Given the description of an element on the screen output the (x, y) to click on. 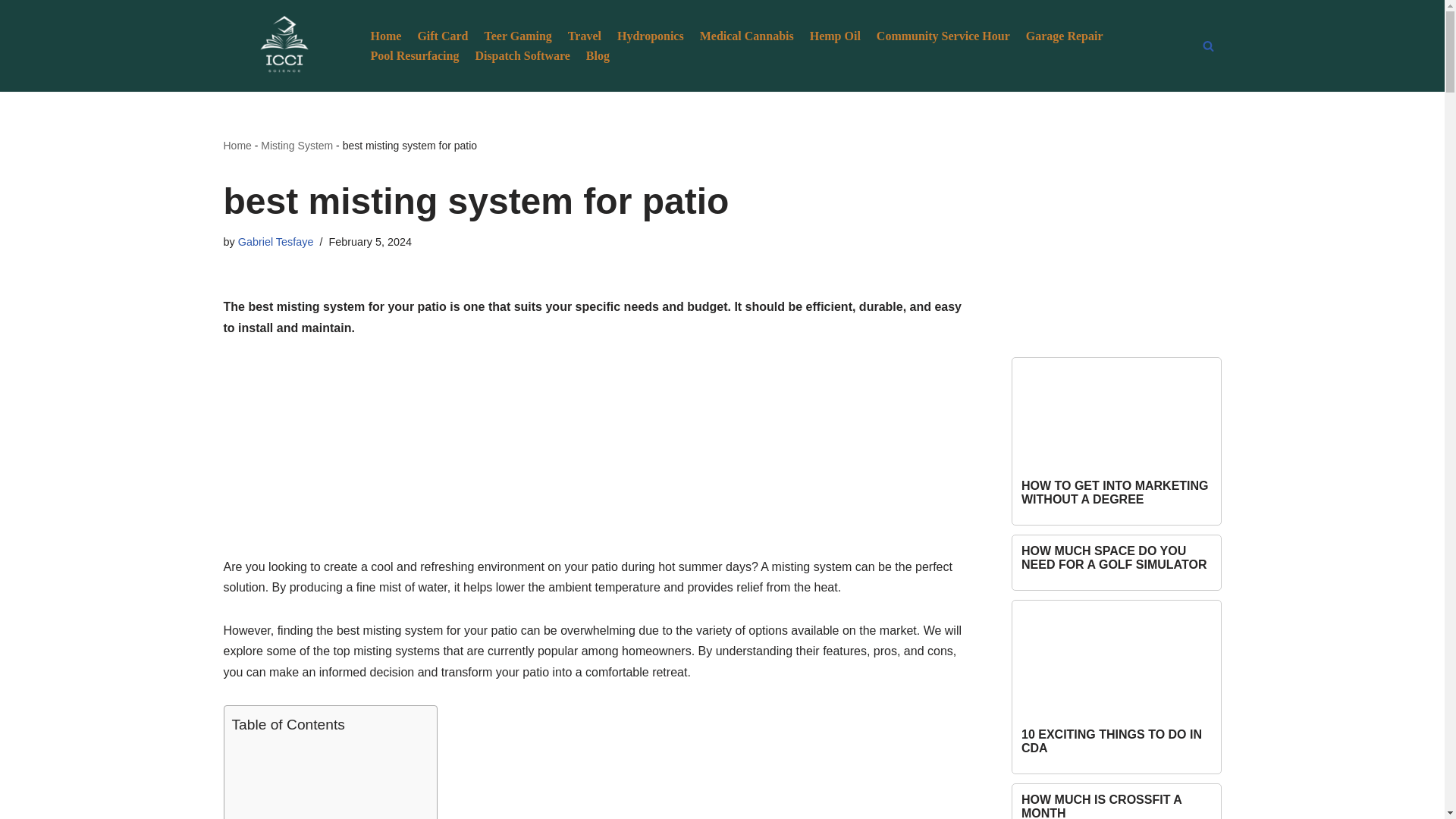
Garage Repair (1064, 35)
Posts by Gabriel Tesfaye (276, 241)
Teer Gaming (517, 35)
Pool Resurfacing (413, 55)
Gift Card (441, 35)
Hemp Oil (834, 35)
Home (385, 35)
Travel (584, 35)
Misting System (296, 145)
Medical Cannabis (746, 35)
Blog (598, 55)
Community Service Hour (943, 35)
Home (236, 145)
Skip to content (11, 31)
Dispatch Software (521, 55)
